Given the description of an element on the screen output the (x, y) to click on. 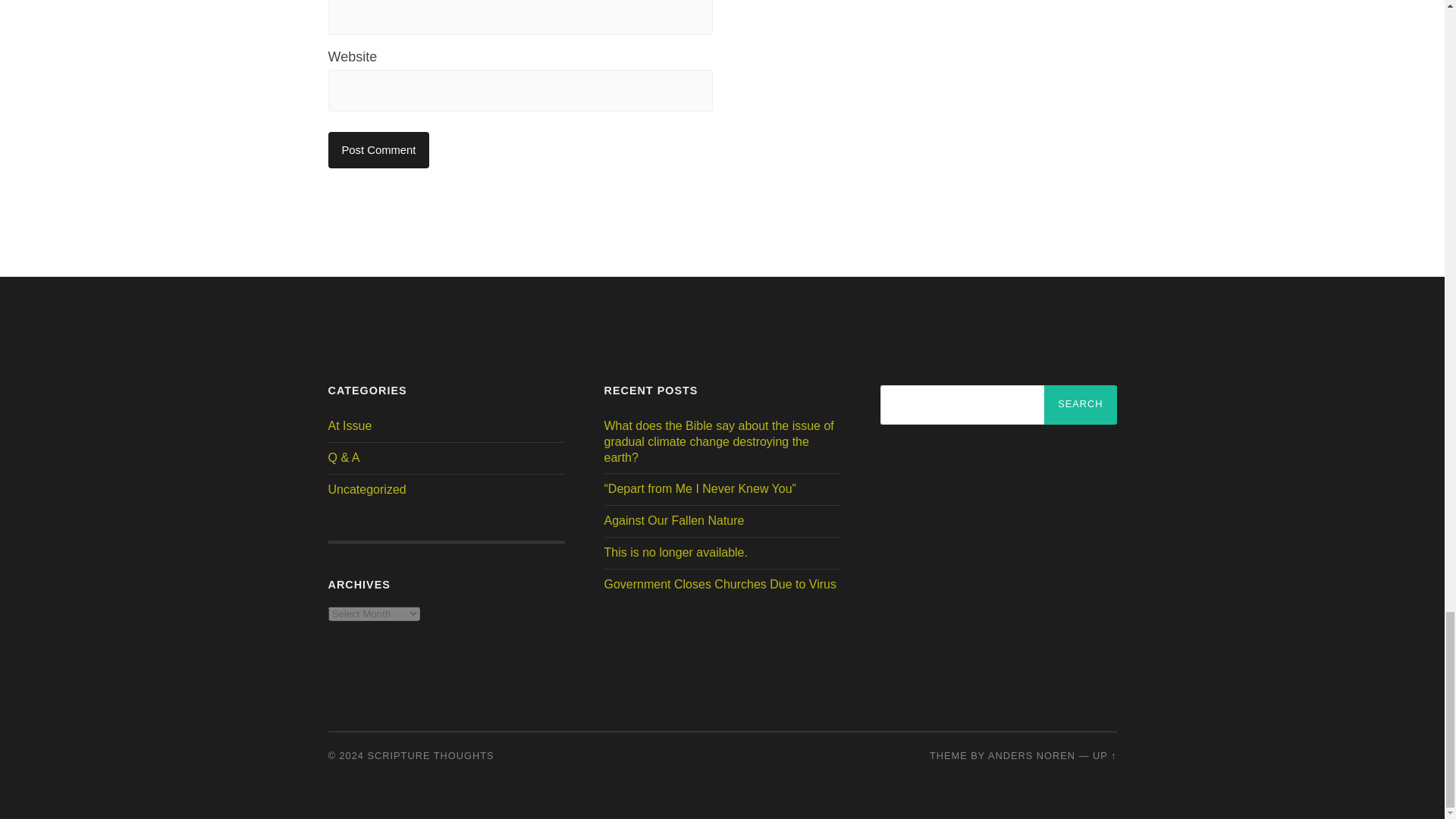
Uncategorized (366, 489)
Search (1079, 404)
Post Comment (378, 149)
At Issue (349, 425)
Post Comment (378, 149)
To the top (1104, 755)
